Given the description of an element on the screen output the (x, y) to click on. 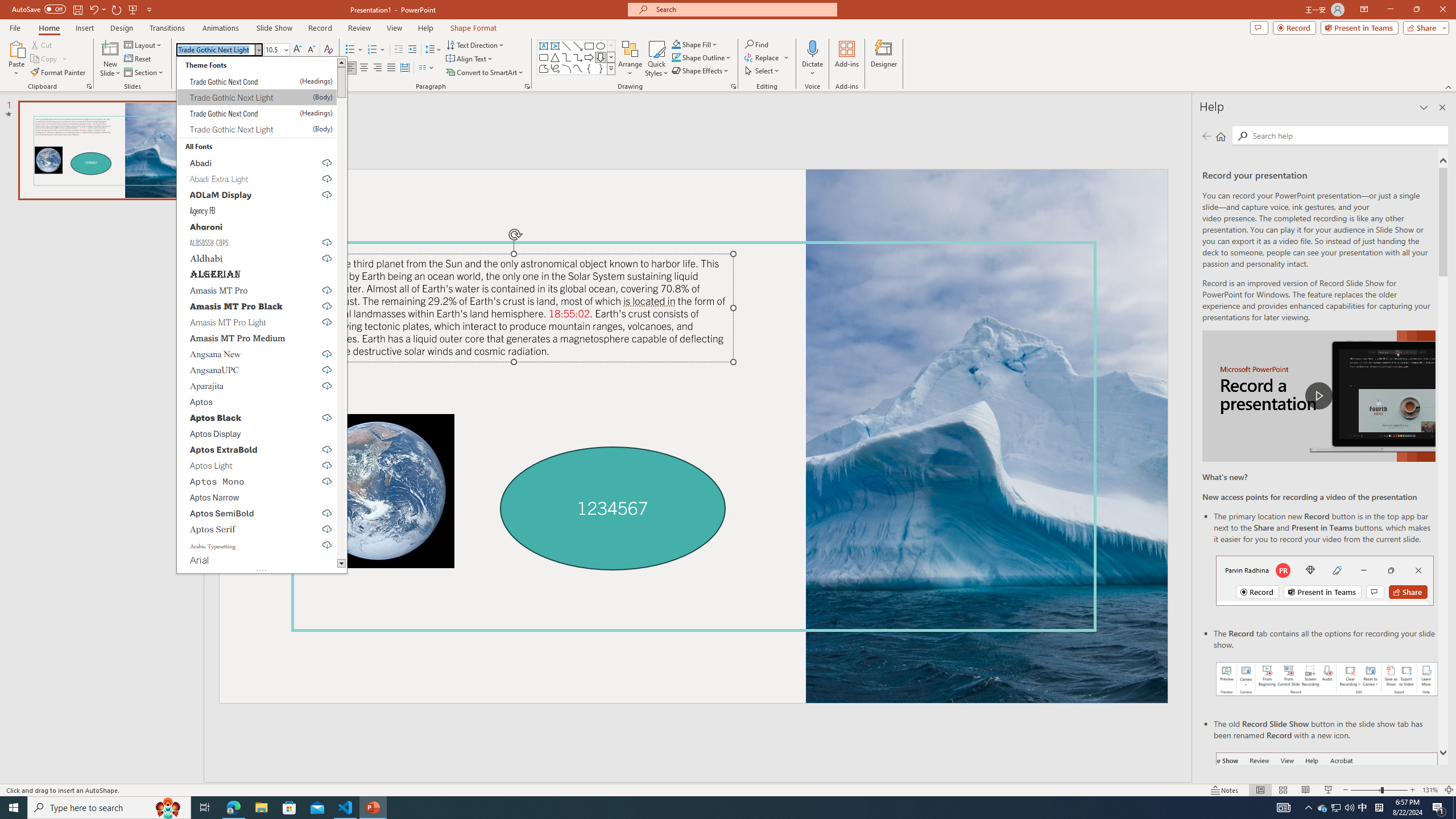
Layout (143, 44)
Animations (220, 28)
Font (219, 49)
Numbering (376, 49)
Amasis MT Pro Black, select to download (256, 305)
Aptos ExtraBold, select to download (256, 449)
Font Size (273, 49)
Shape Fill (694, 44)
Format Painter (58, 72)
Underline (209, 67)
Home (48, 28)
Line Spacing (433, 49)
